Given the description of an element on the screen output the (x, y) to click on. 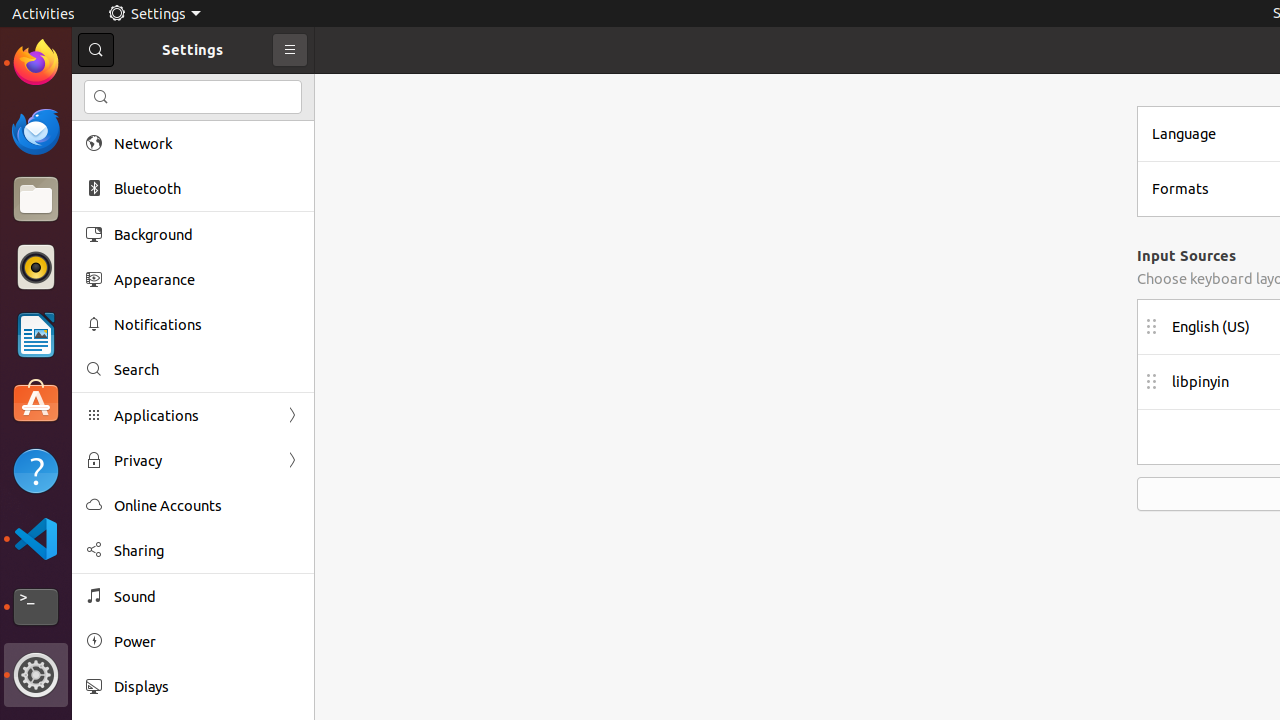
Settings Element type: push-button (36, 675)
Displays Element type: label (207, 686)
Notifications Element type: label (207, 324)
Search Element type: text (193, 97)
